Given the description of an element on the screen output the (x, y) to click on. 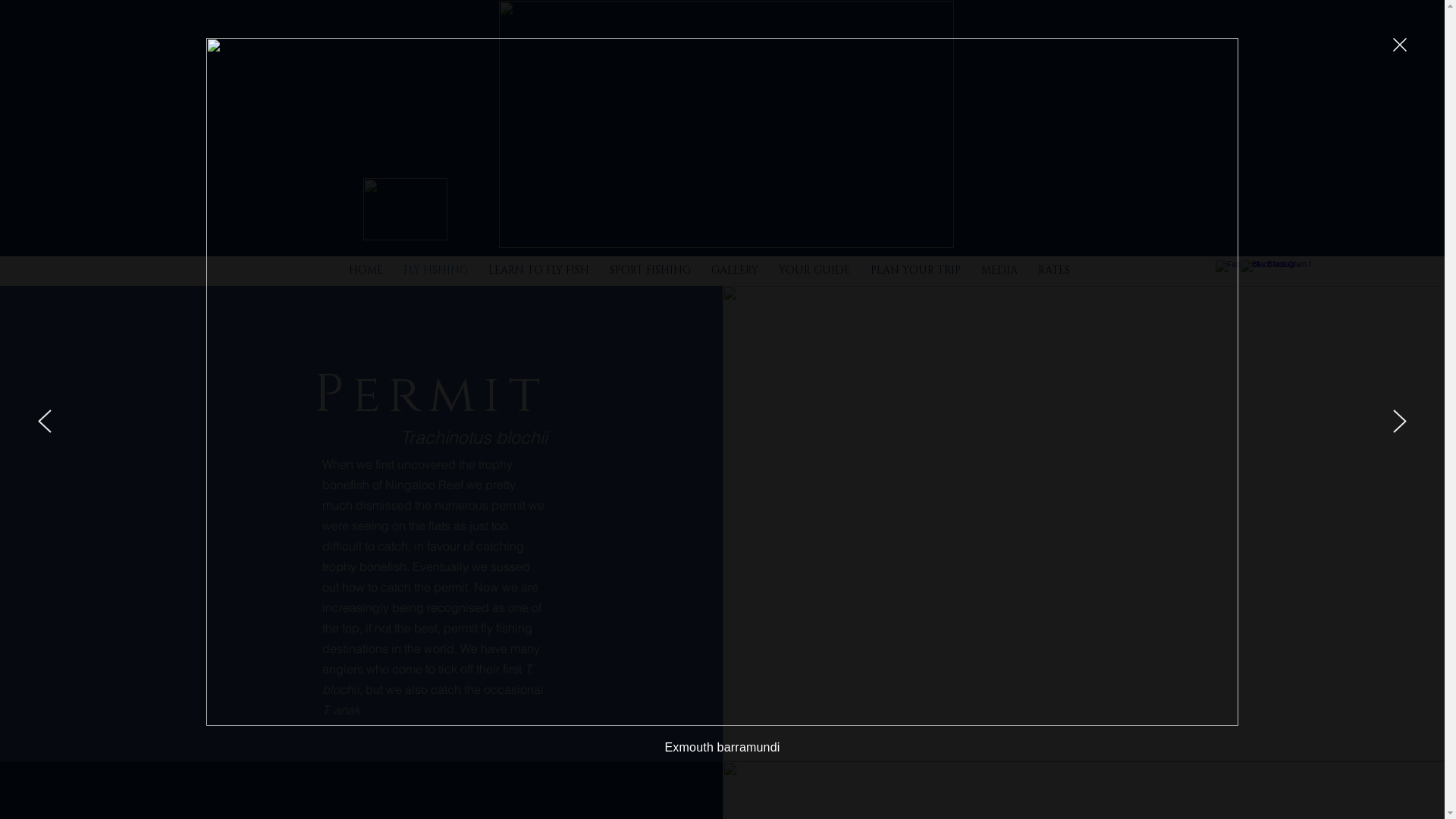
LEARN TO FLY FISH Element type: text (538, 269)
FLY FISHING Element type: text (434, 269)
MEDIA Element type: text (998, 269)
HOME Element type: text (365, 269)
SPORT FISHING Element type: text (649, 269)
YOUR GUIDE Element type: text (814, 269)
RATES Element type: text (1054, 269)
GALLERY Element type: text (734, 269)
PLAN YOUR TRIP Element type: text (914, 269)
